Given the description of an element on the screen output the (x, y) to click on. 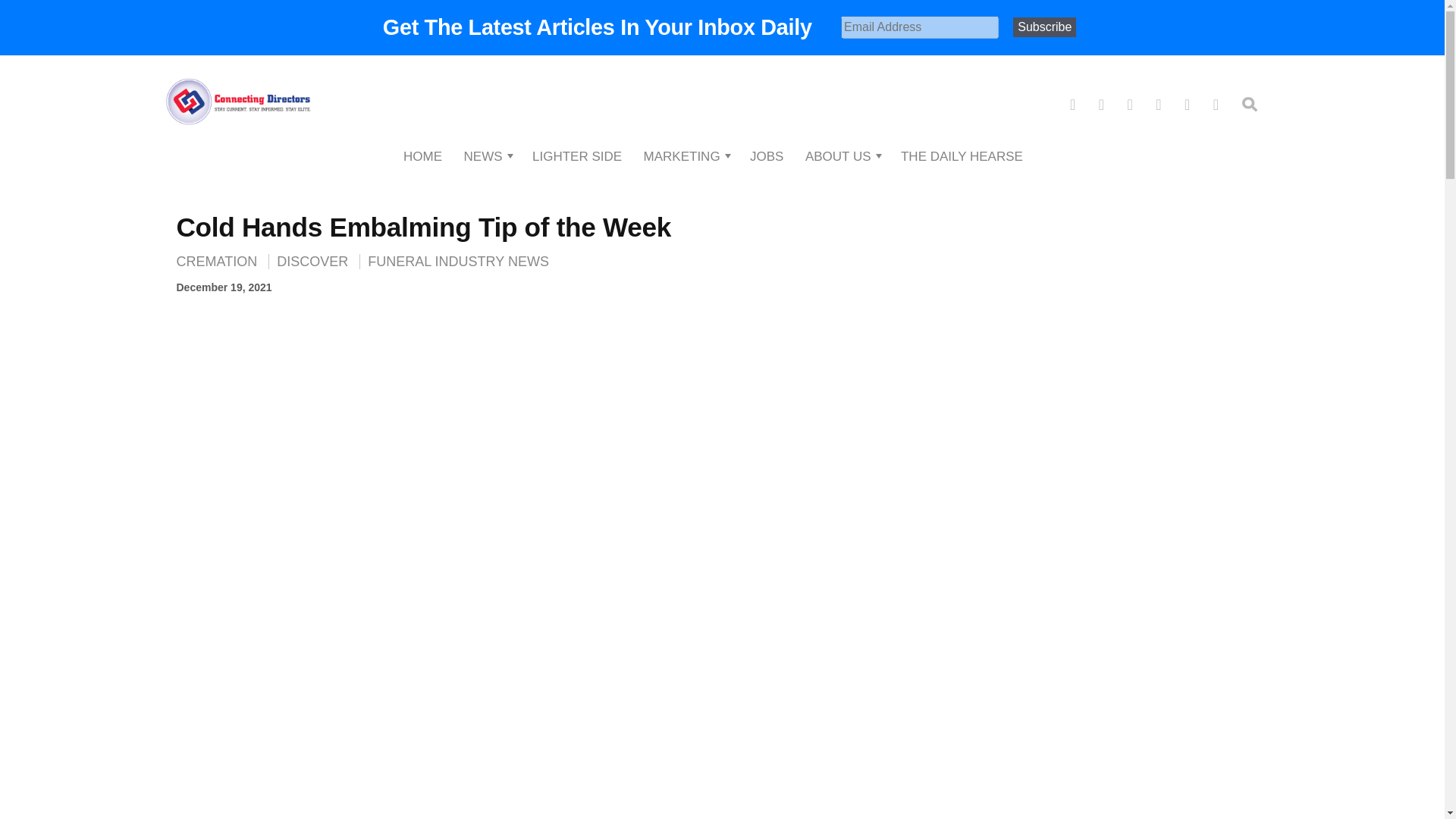
JOBS (766, 156)
MARKETING (681, 156)
HOME (422, 156)
LIGHTER SIDE (576, 156)
Connecting Directors (237, 150)
DISCOVER (311, 261)
Subscribe (1044, 26)
Subscribe (1044, 26)
Cremation (220, 261)
ABOUT US (837, 156)
NEWS (483, 156)
Funeral Industry News (457, 261)
